Given the description of an element on the screen output the (x, y) to click on. 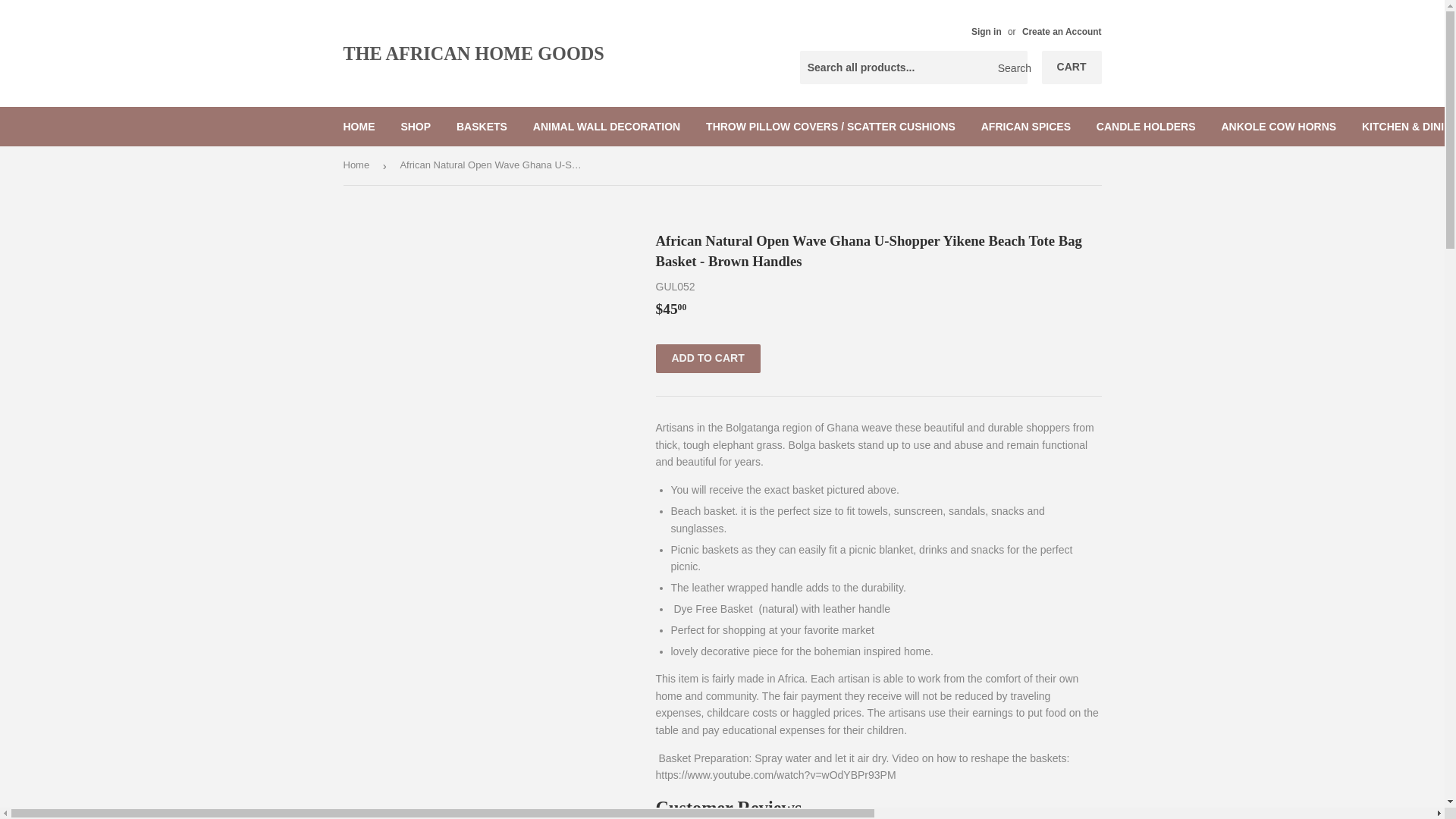
Search (1009, 68)
HOME (359, 126)
Create an Account (1062, 31)
CART (1072, 67)
SHOP (415, 126)
Sign in (986, 31)
BASKETS (481, 126)
CANDLE HOLDERS (1145, 126)
AFRICAN SPICES (1025, 126)
Back to the frontpage (358, 165)
ANIMAL WALL DECORATION (606, 126)
THE AFRICAN HOME GOODS (532, 53)
ANKOLE COW HORNS (1278, 126)
